Given the description of an element on the screen output the (x, y) to click on. 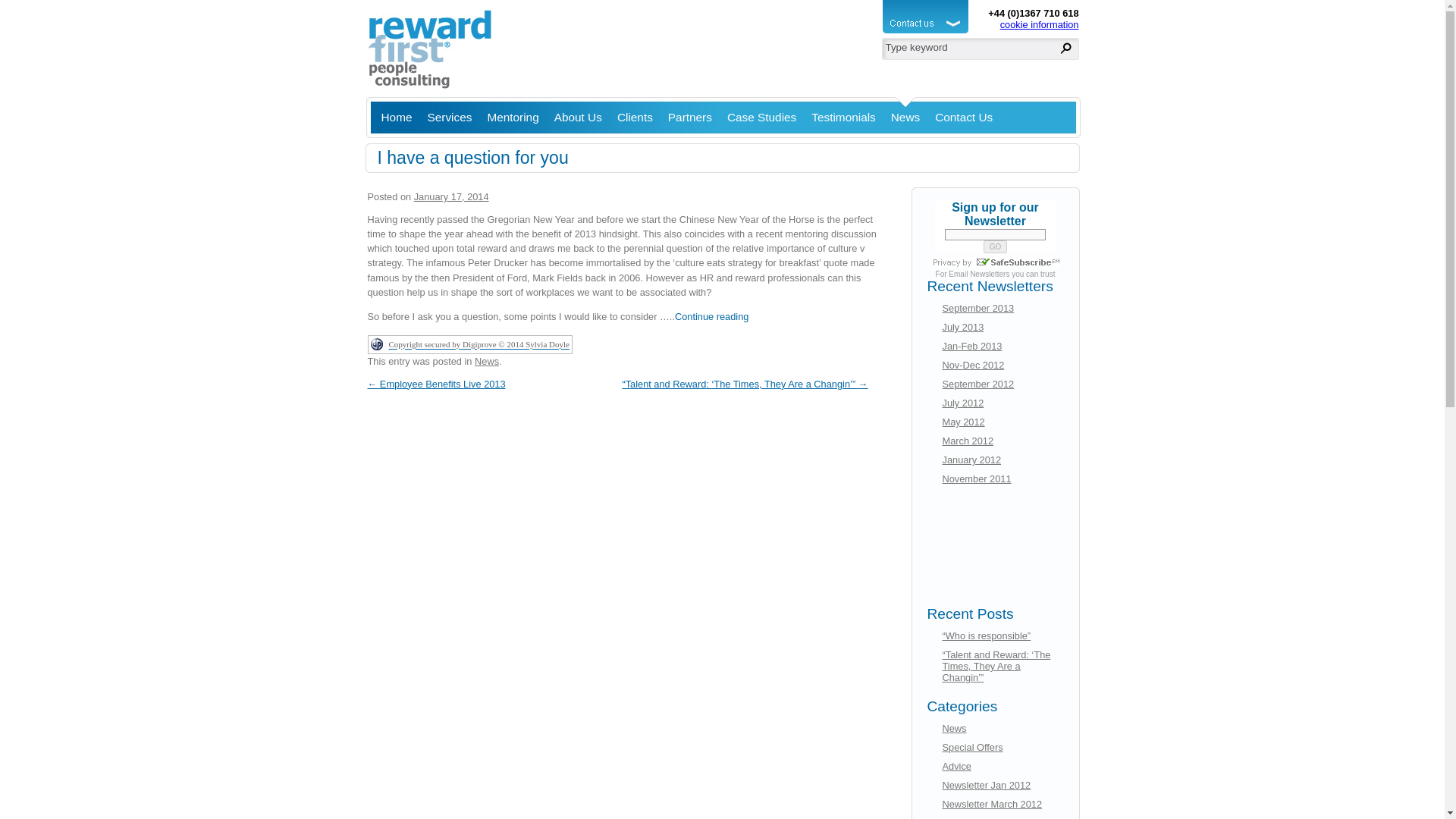
Use of cookies (1034, 24)
Case Studies (761, 114)
Reward Partners (689, 114)
Special Offers (972, 747)
Contact Us (963, 114)
Reward Consultancy Client (634, 114)
September 2013 (977, 307)
Contact Reward First (963, 114)
Testimonials (843, 114)
Mentoring (512, 114)
Contact us (927, 33)
GO (995, 246)
Case Studies (761, 114)
Email Newsletters (979, 274)
Partners (689, 114)
